Given the description of an element on the screen output the (x, y) to click on. 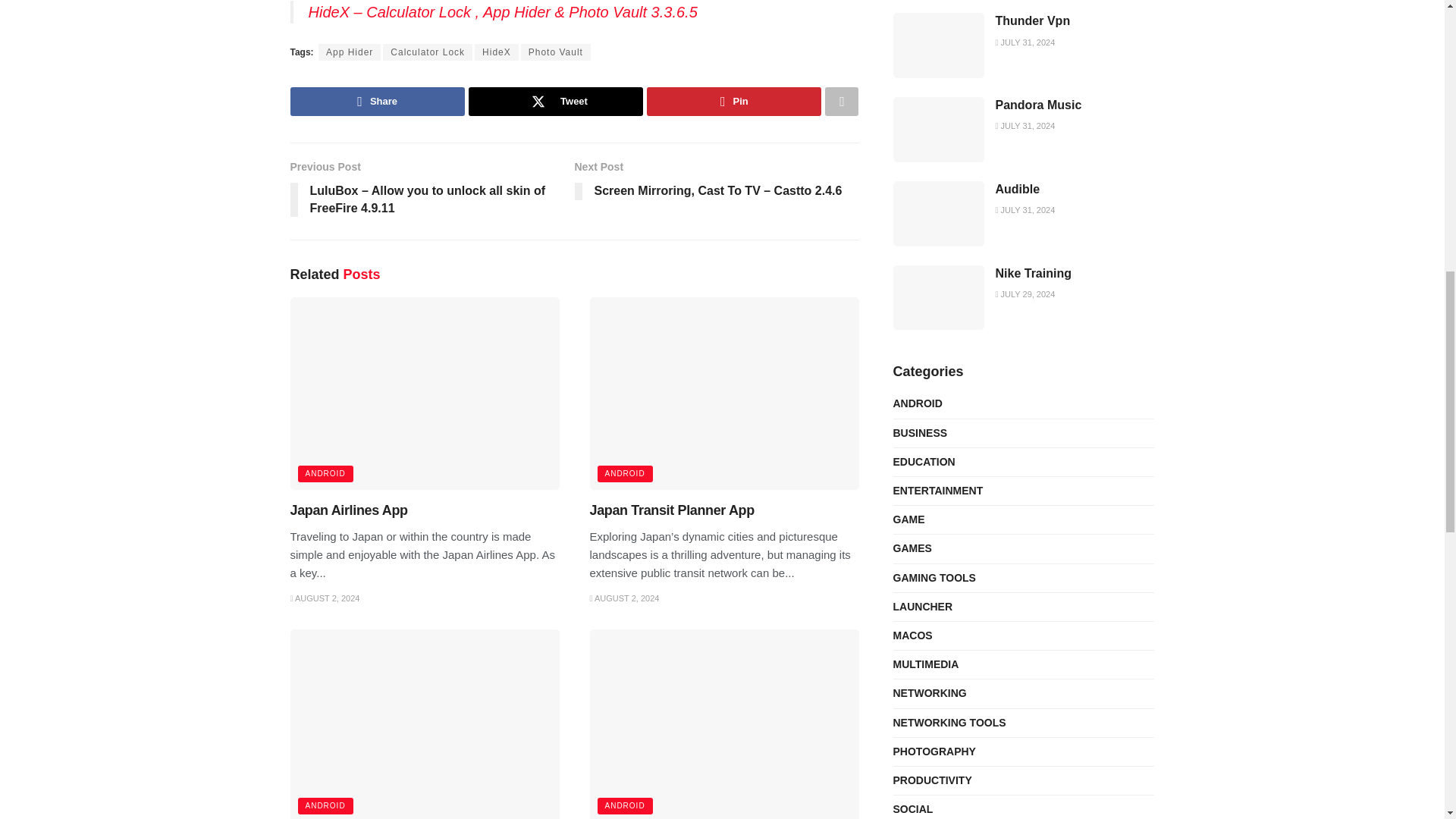
Calculator Lock (426, 52)
HideX (496, 52)
App Hider (349, 52)
